Given the description of an element on the screen output the (x, y) to click on. 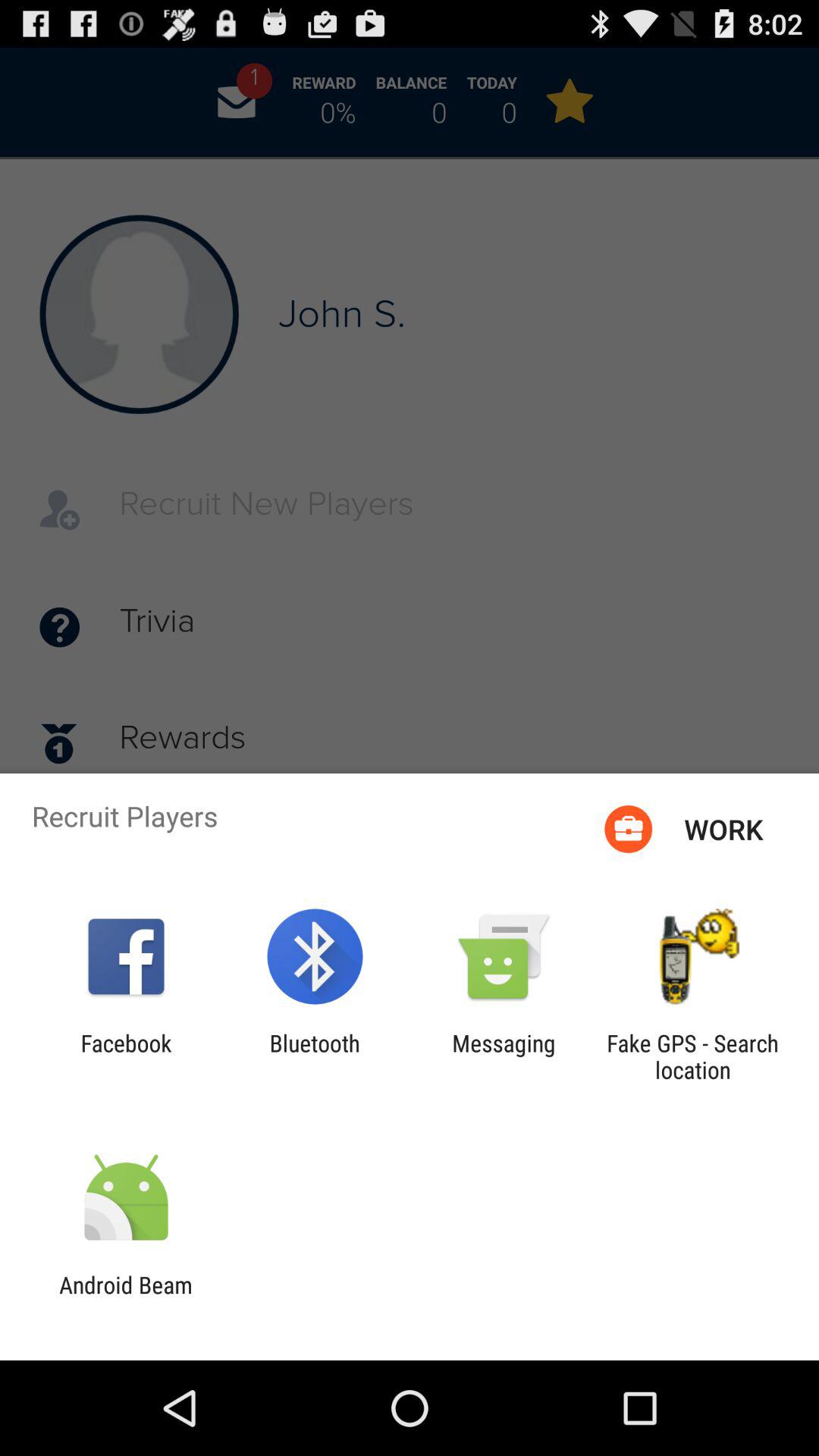
scroll until the messaging item (503, 1056)
